Given the description of an element on the screen output the (x, y) to click on. 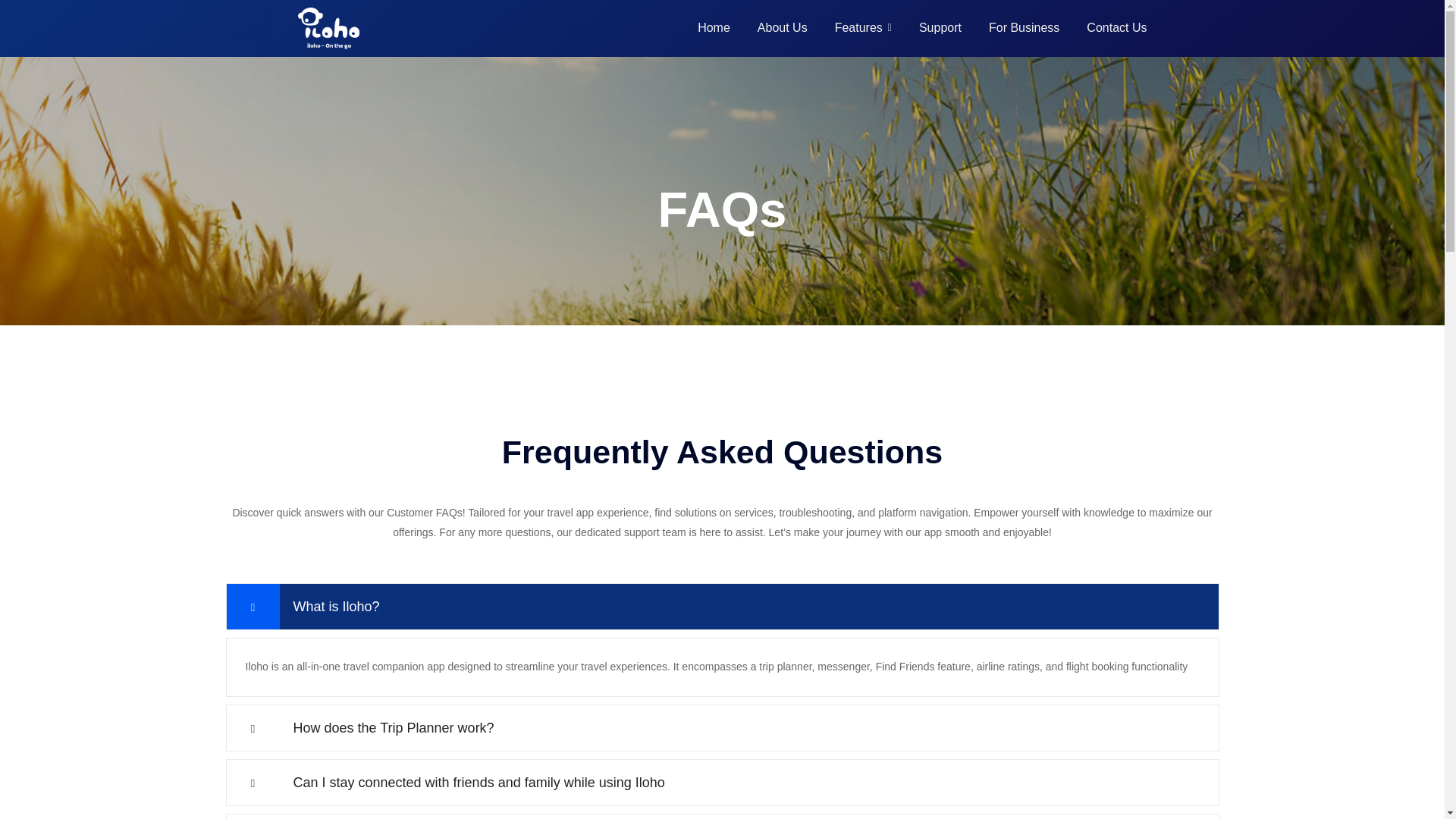
Features (862, 27)
Support (939, 27)
How does the Trip Planner work? (722, 727)
For Business (1023, 27)
About Us (782, 27)
What is Iloho? (722, 606)
Home (713, 27)
Contact Us (1116, 27)
